Given the description of an element on the screen output the (x, y) to click on. 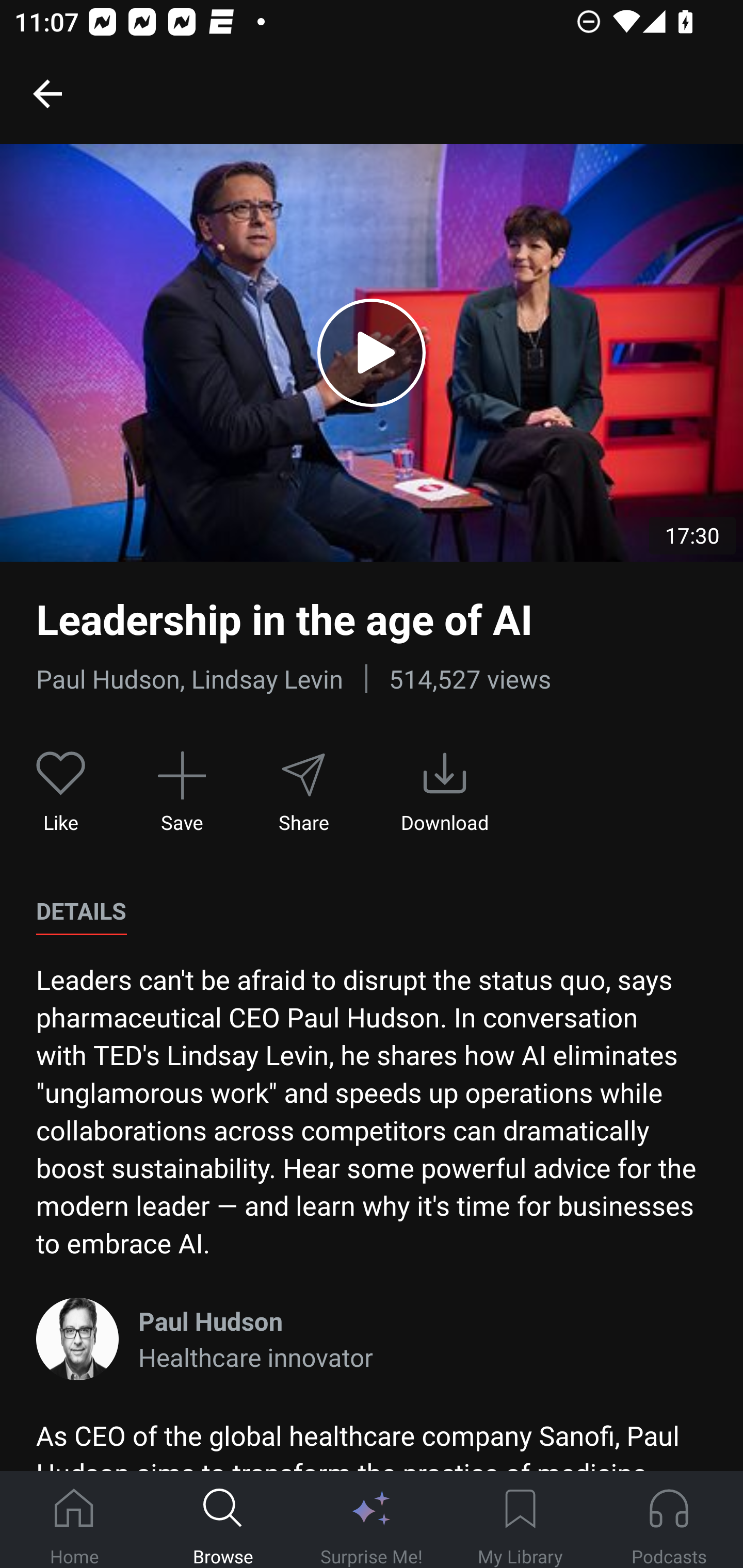
Search, back (47, 92)
Like (60, 793)
Save (181, 793)
Share (302, 793)
Download (444, 793)
DETAILS (80, 911)
Home (74, 1520)
Browse (222, 1520)
Surprise Me! (371, 1520)
My Library (519, 1520)
Podcasts (668, 1520)
